Given the description of an element on the screen output the (x, y) to click on. 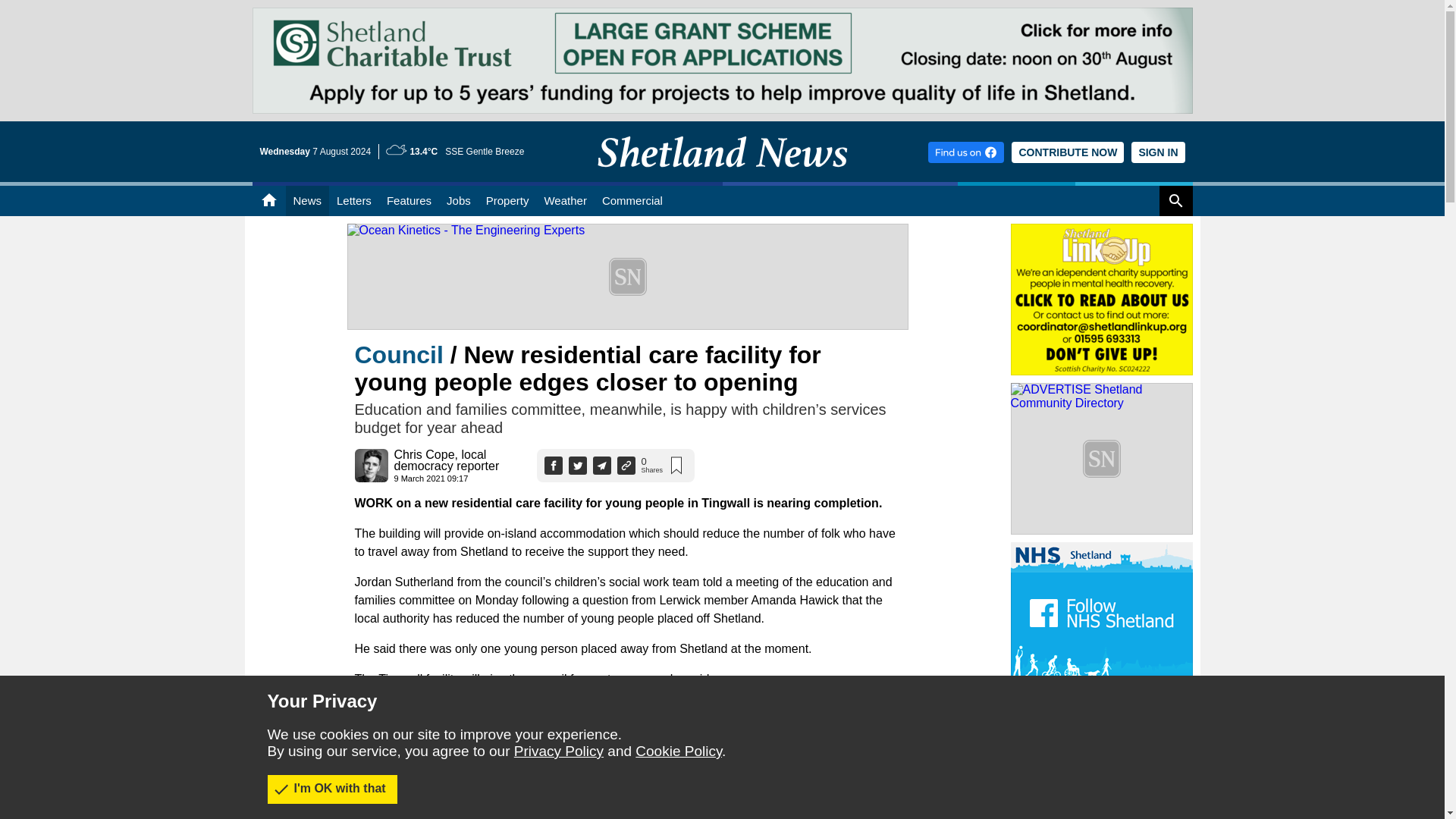
News (307, 200)
Support Shetland News (1067, 151)
News (307, 200)
SCT - Large grant scheme open for applications (721, 13)
SIGN IN (1158, 151)
CONTRIBUTE NOW (1067, 151)
Shetland News Home (721, 177)
Home (268, 200)
Shetland News Login (1158, 151)
Find us on Facebook (966, 151)
